Given the description of an element on the screen output the (x, y) to click on. 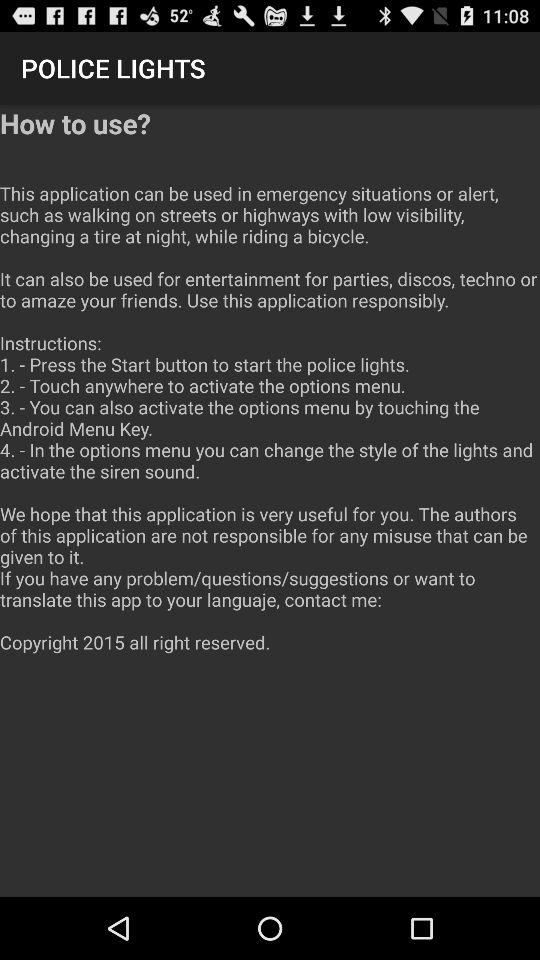
press icon at the center (270, 390)
